Given the description of an element on the screen output the (x, y) to click on. 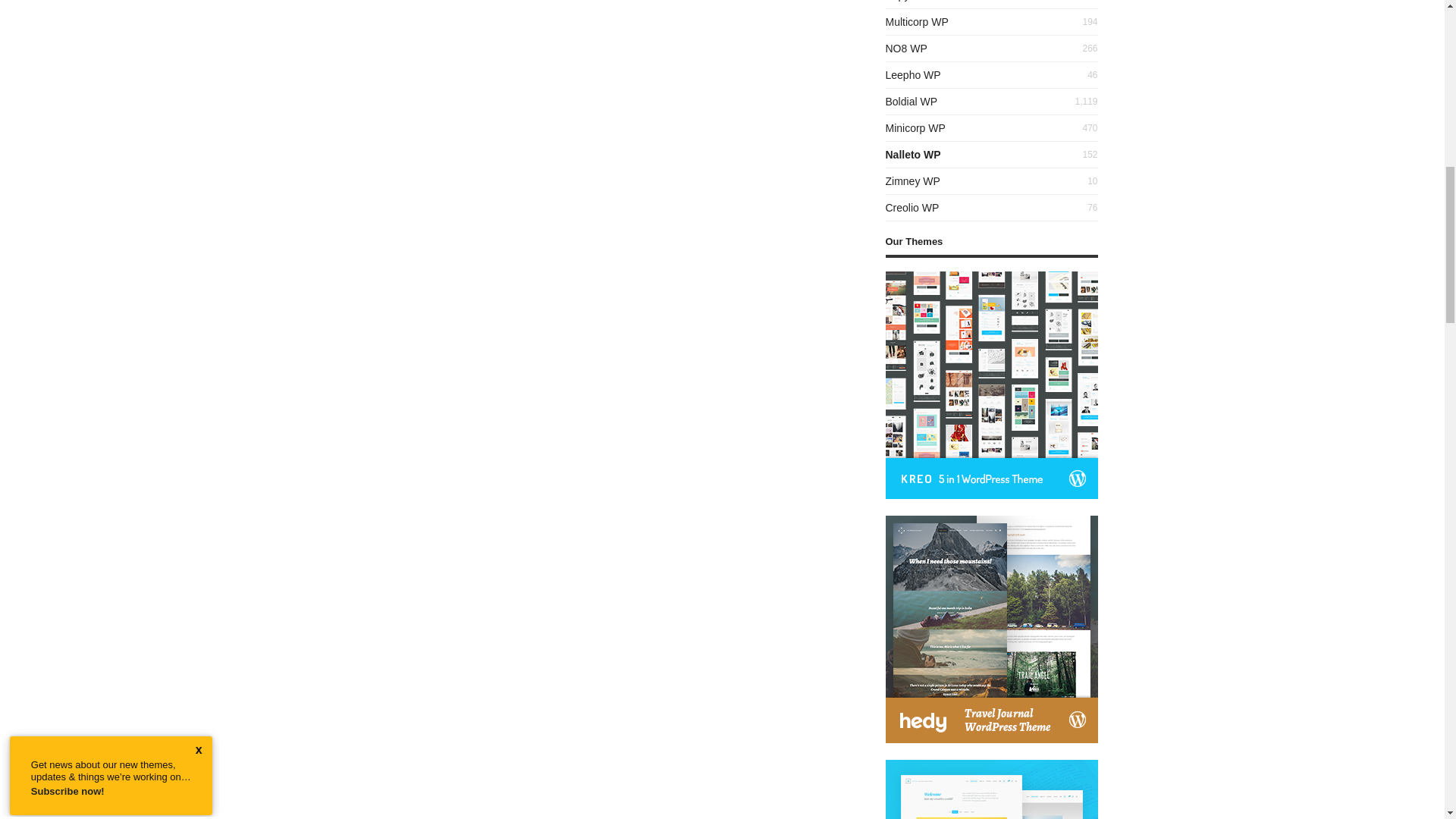
Multicorp WP (917, 21)
Nalleto WP (912, 154)
Creolio WP (912, 207)
Minicorp WP (914, 128)
NO8 WP (906, 48)
Leepho WP (912, 74)
Zimney WP (912, 181)
Boldial WP (911, 101)
Kopy WP (907, 0)
